Given the description of an element on the screen output the (x, y) to click on. 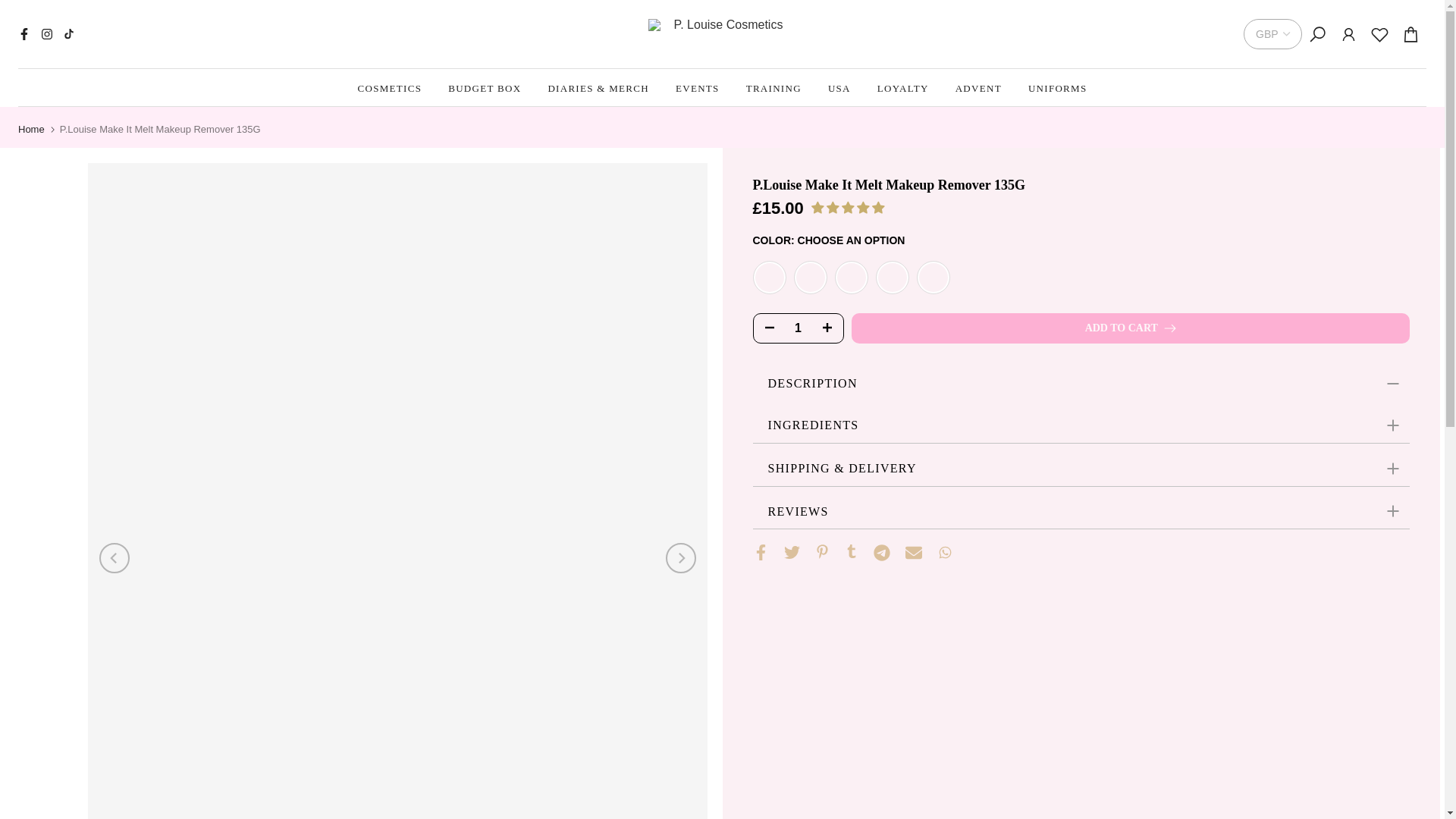
ADD TO CART (1129, 327)
UNIFORMS (1057, 88)
Share on WhatsApp (945, 552)
TRAINING (772, 88)
DESCRIPTION (1080, 383)
Share on Telegram (881, 552)
Birthday Cake (769, 277)
Orange (850, 277)
Share on Email (913, 552)
Share on Twitter (791, 552)
